Given the description of an element on the screen output the (x, y) to click on. 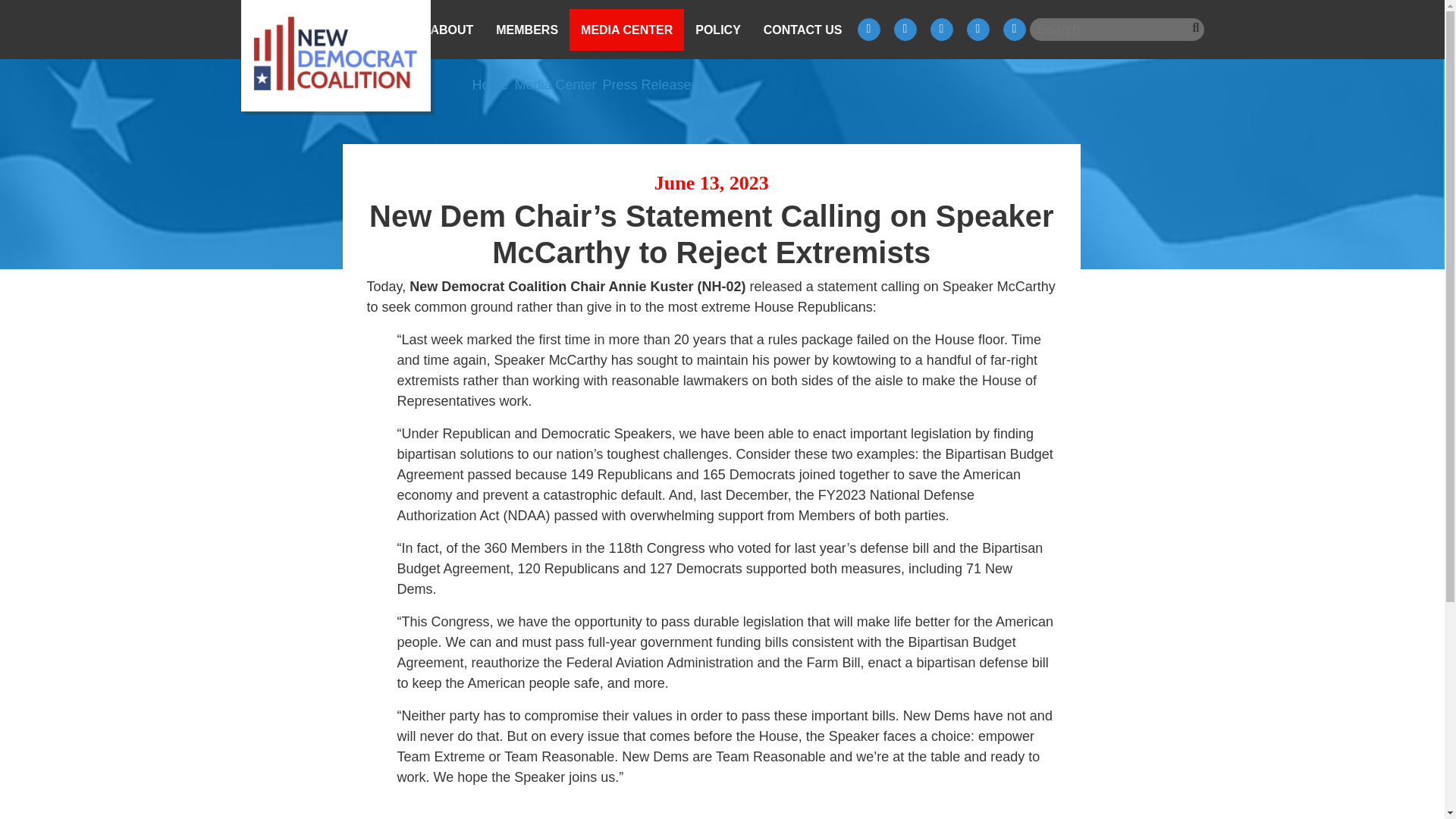
CONTACT US (802, 29)
POLICY (718, 29)
ABOUT (451, 29)
MEDIA CENTER (626, 29)
MEMBERS (526, 29)
